Given the description of an element on the screen output the (x, y) to click on. 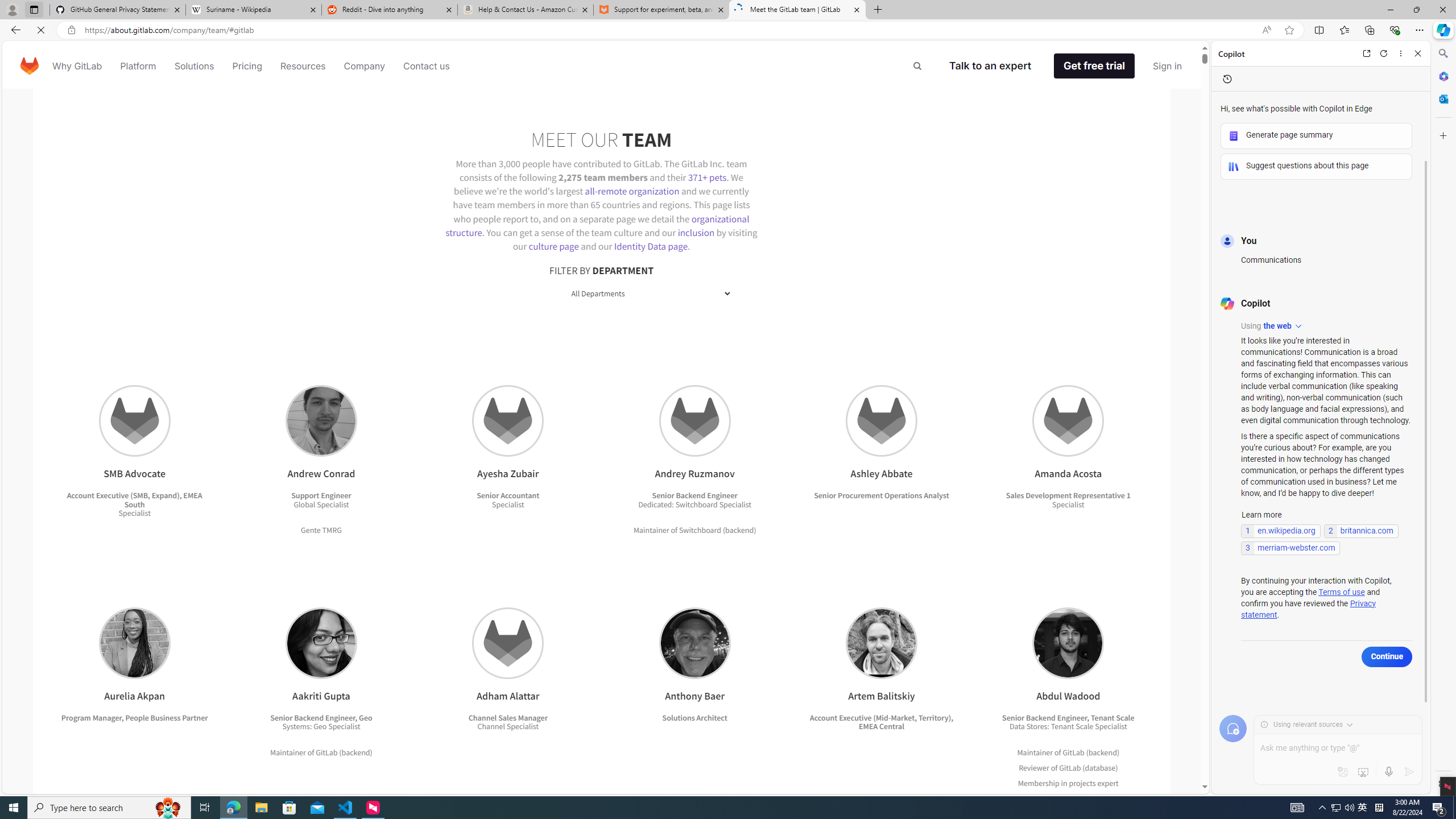
Contact us (426, 65)
AutomationID: navigation (605, 64)
Solutions (193, 65)
Company (364, 65)
Suriname - Wikipedia (253, 9)
Help & Contact Us - Amazon Customer Service - Sleeping (525, 9)
Contact us (426, 65)
Talk to an expert (998, 65)
Platform (138, 65)
Meet the GitLab team | GitLab (797, 9)
Solutions (193, 65)
